Given the description of an element on the screen output the (x, y) to click on. 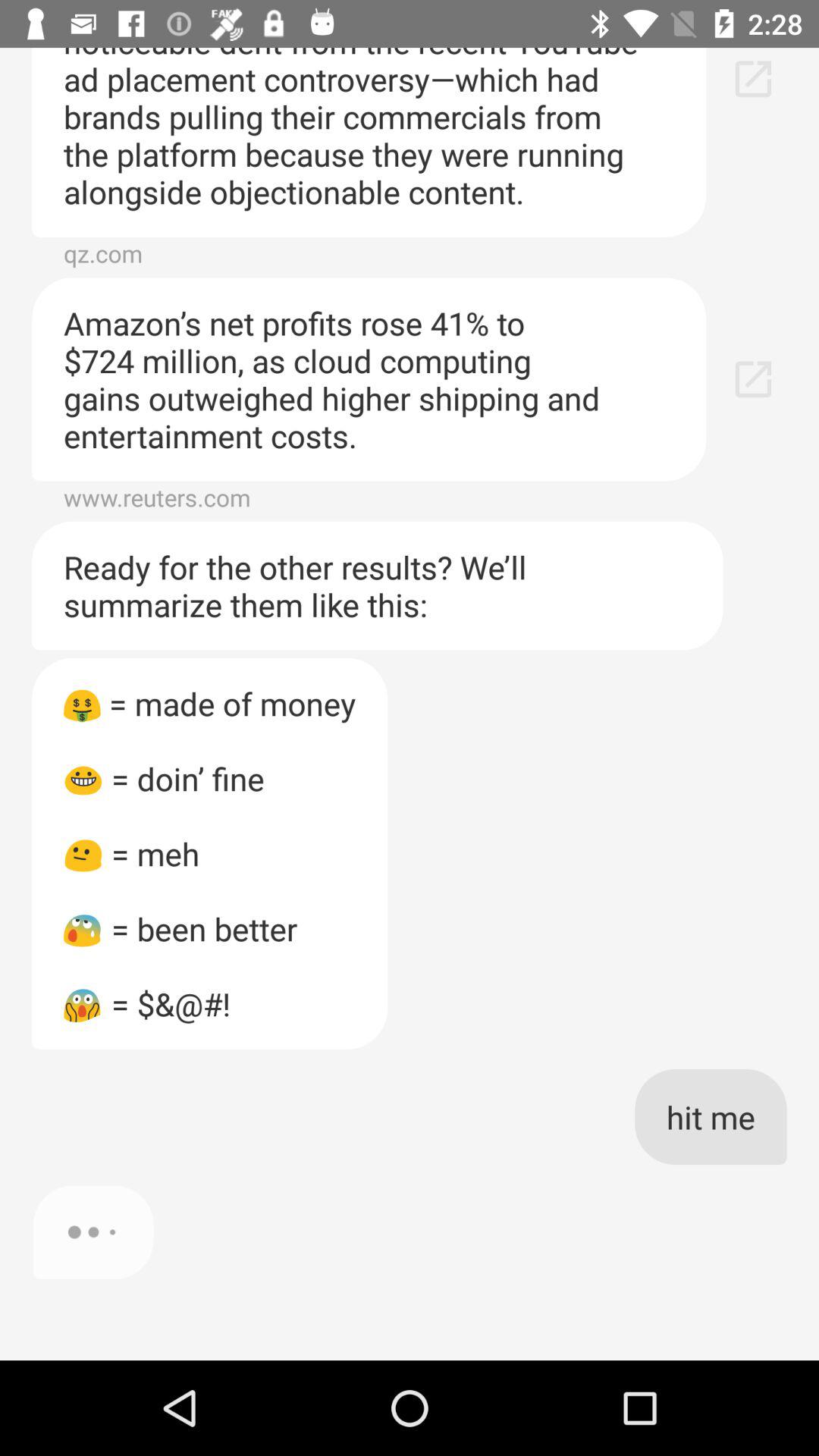
select icon below the qz.com icon (368, 379)
